Given the description of an element on the screen output the (x, y) to click on. 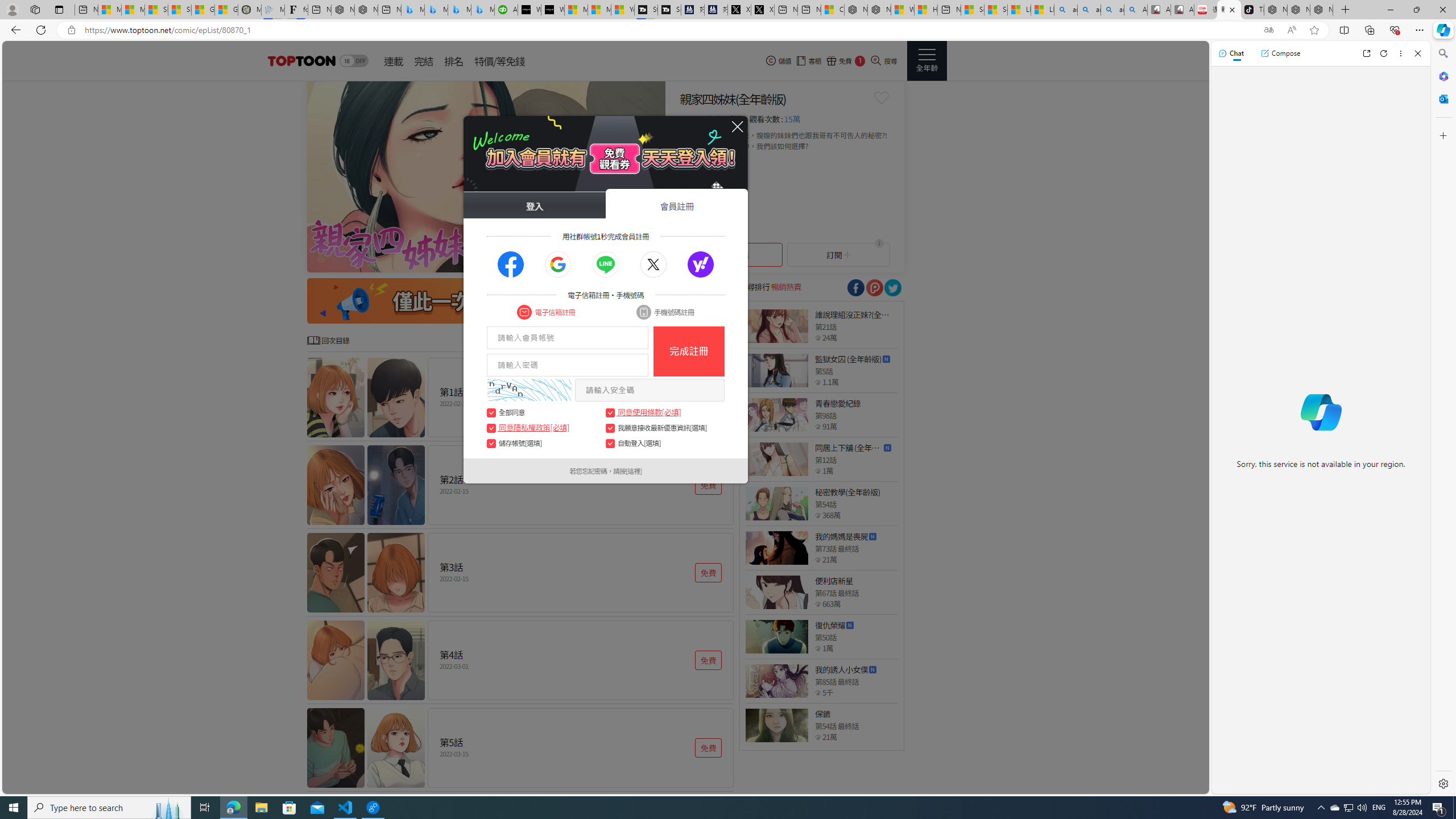
Accounting Software for Accountants, CPAs and Bookkeepers (505, 9)
Huge shark washes ashore at New York City beach | Watch (926, 9)
Open link in new tab (1366, 53)
